Given the description of an element on the screen output the (x, y) to click on. 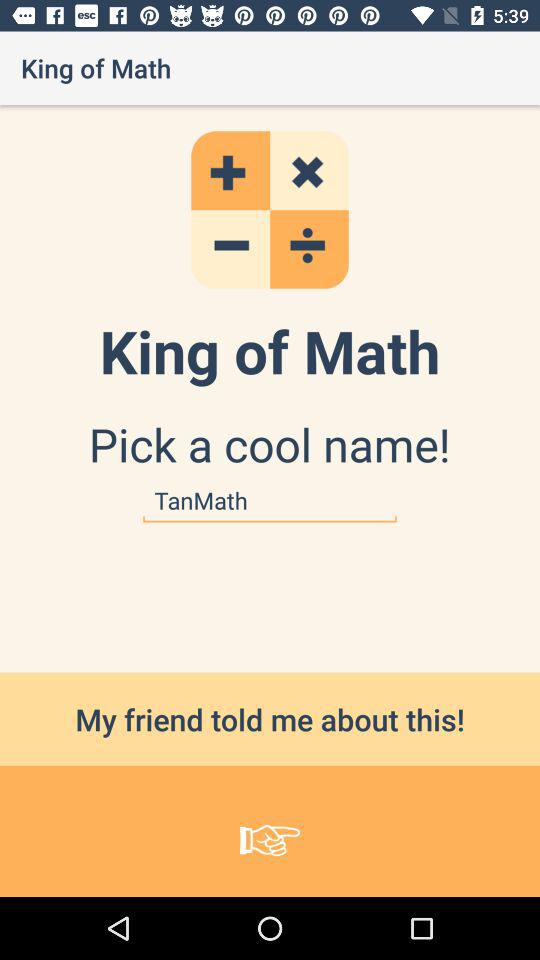
swipe to my friend told icon (270, 718)
